Given the description of an element on the screen output the (x, y) to click on. 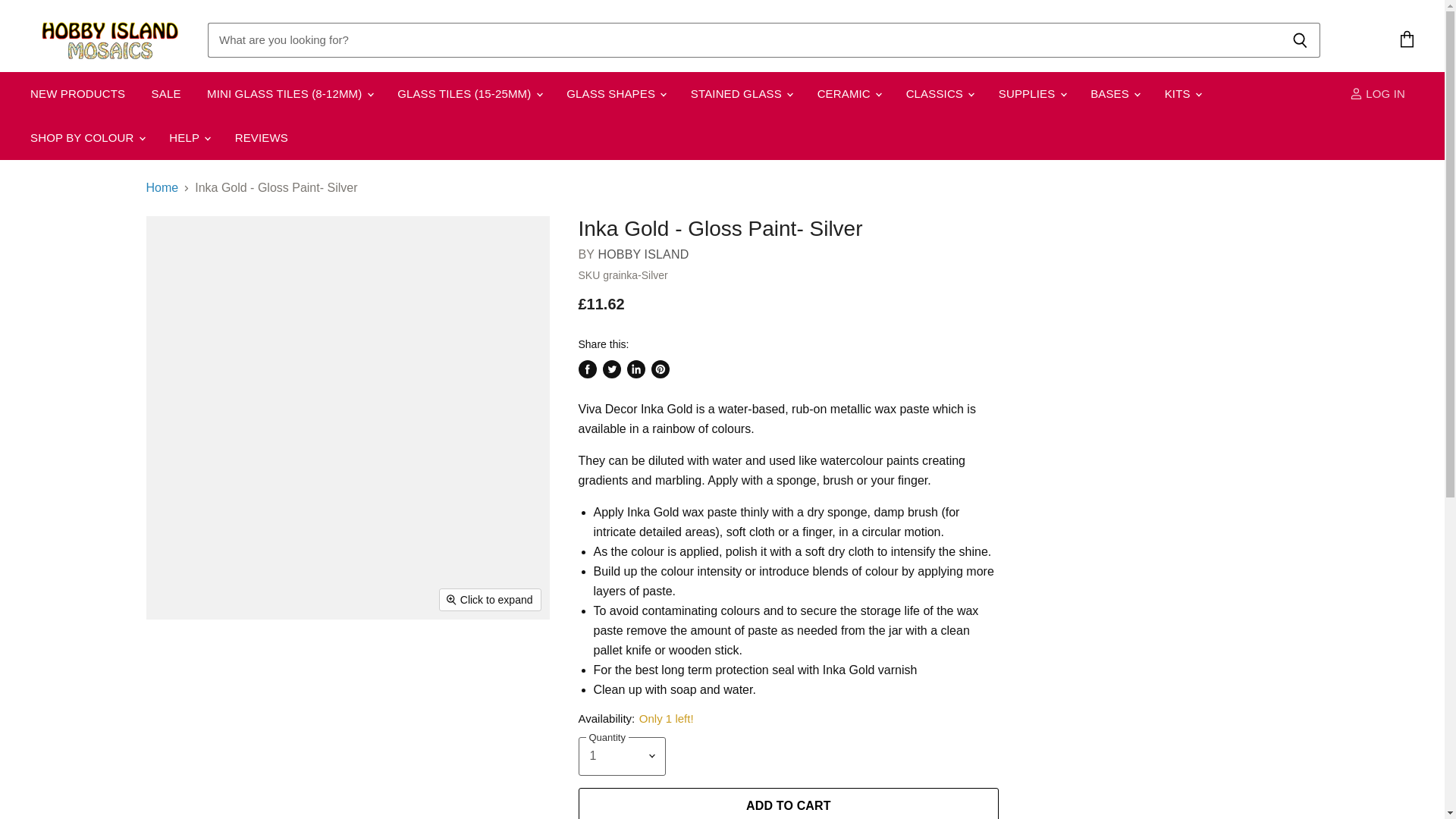
View cart (1406, 39)
Hobby Island (642, 254)
NEW PRODUCTS (77, 93)
SALE (165, 93)
ACCOUNT ICON (1355, 92)
